Given the description of an element on the screen output the (x, y) to click on. 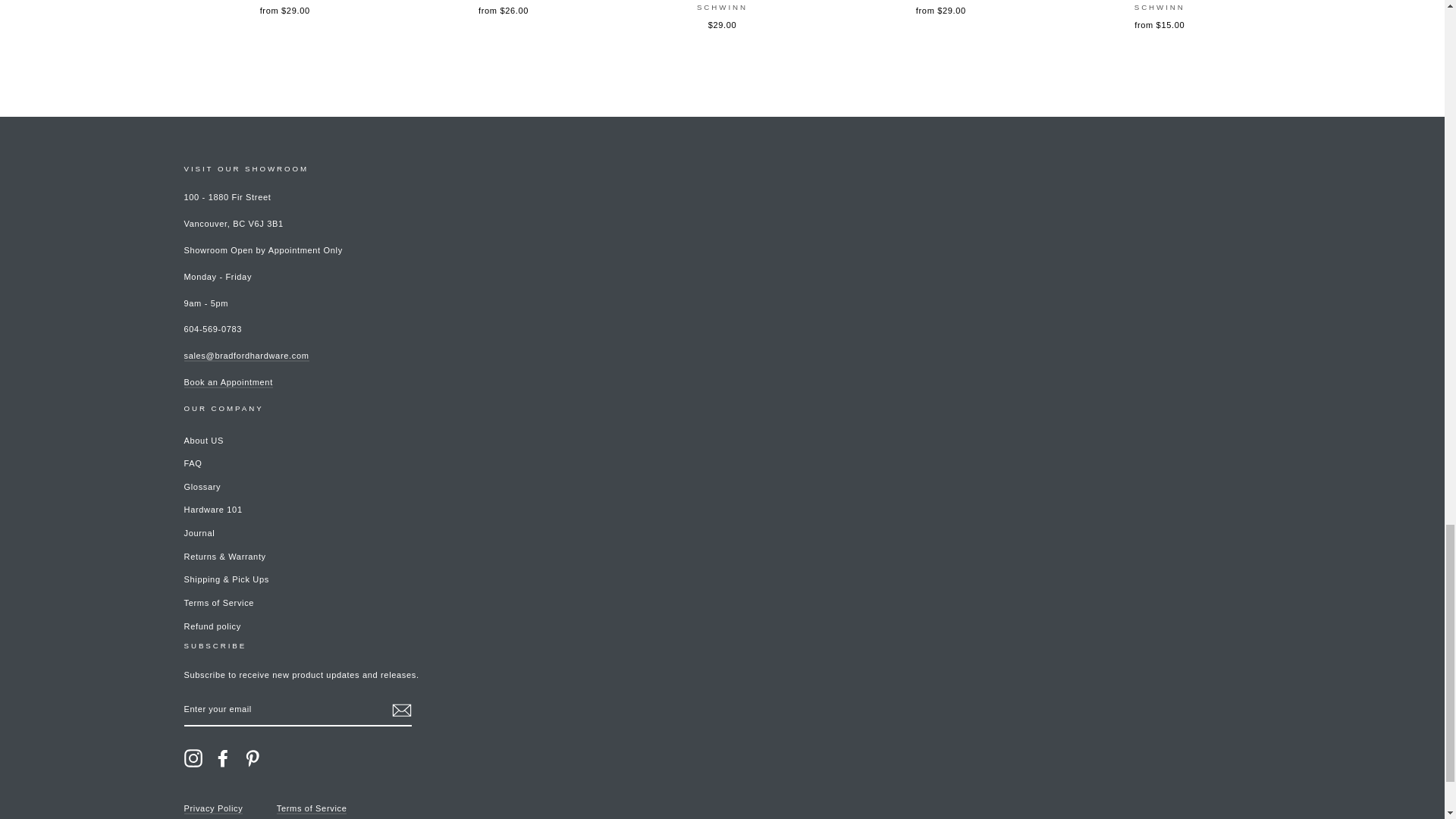
Terms of Service (311, 808)
Bradford Hardware on Pinterest (251, 758)
Privacy Policy (213, 808)
Bradford Hardware on Instagram (192, 758)
Bradford Hardware on Facebook (222, 758)
